Given the description of an element on the screen output the (x, y) to click on. 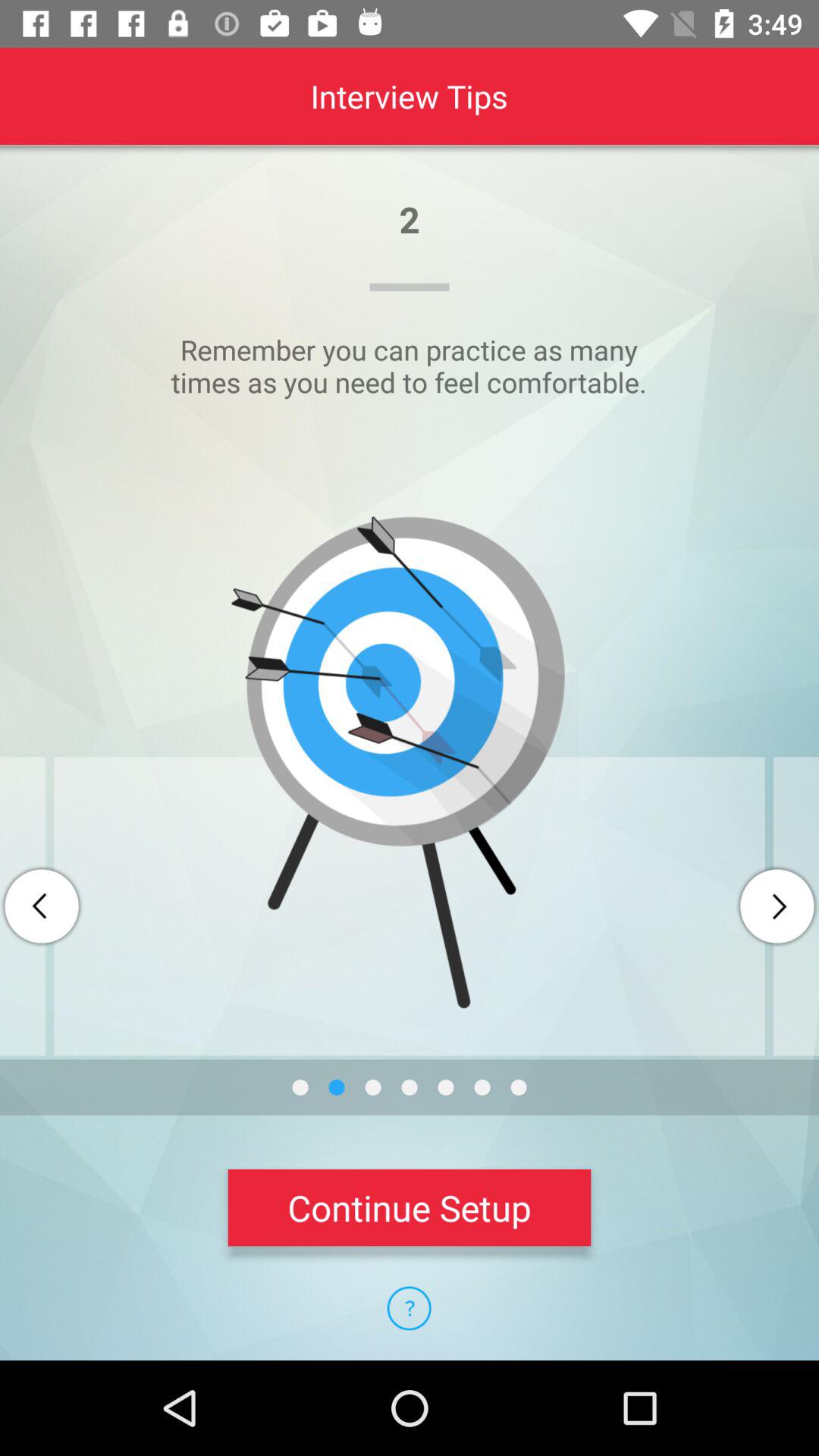
go to previous (41, 906)
